Given the description of an element on the screen output the (x, y) to click on. 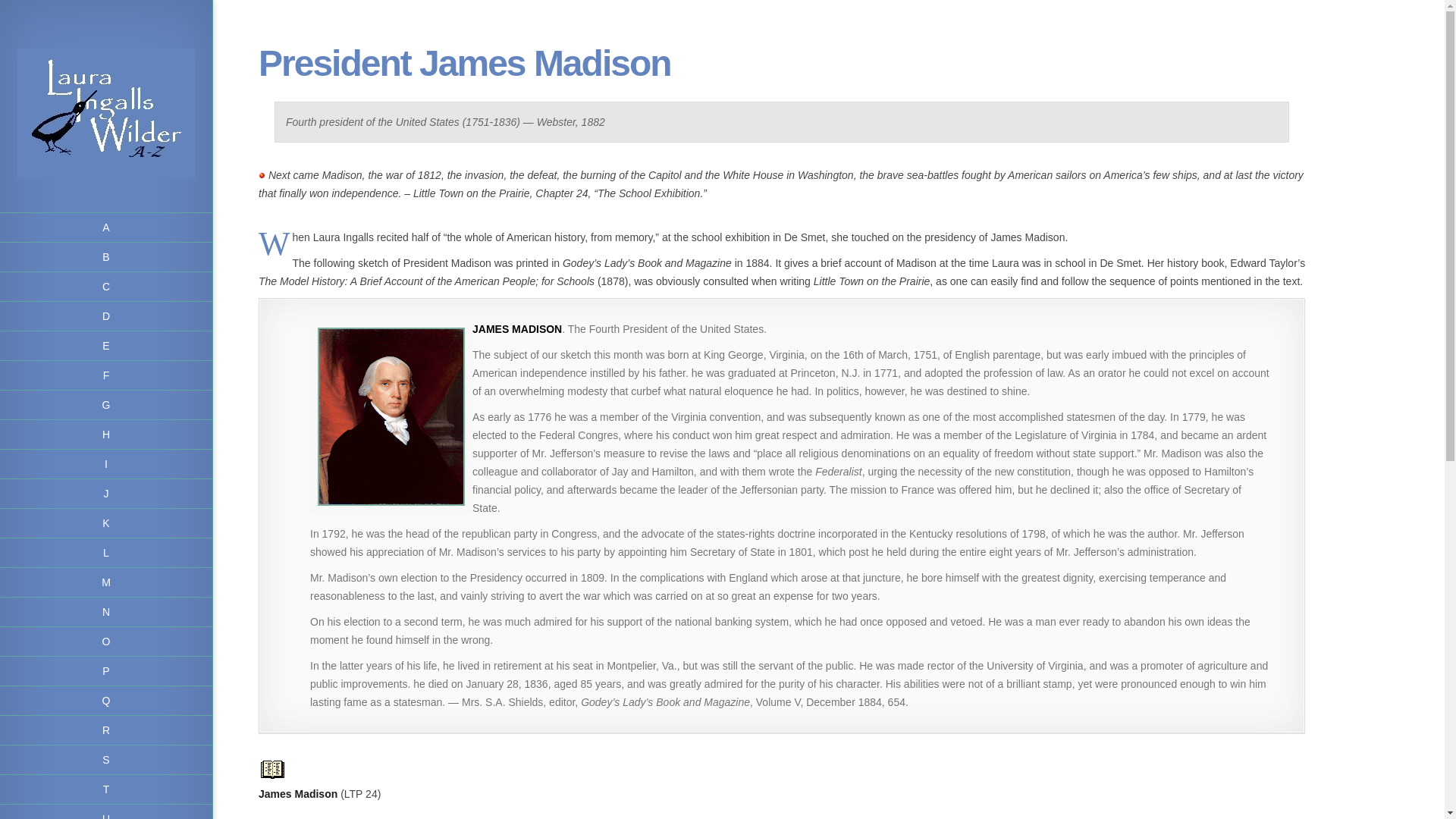
M (106, 582)
A (106, 227)
I (106, 464)
P (106, 671)
G (106, 405)
C (106, 286)
T (106, 789)
N (106, 612)
Q (106, 700)
K (106, 523)
